Given the description of an element on the screen output the (x, y) to click on. 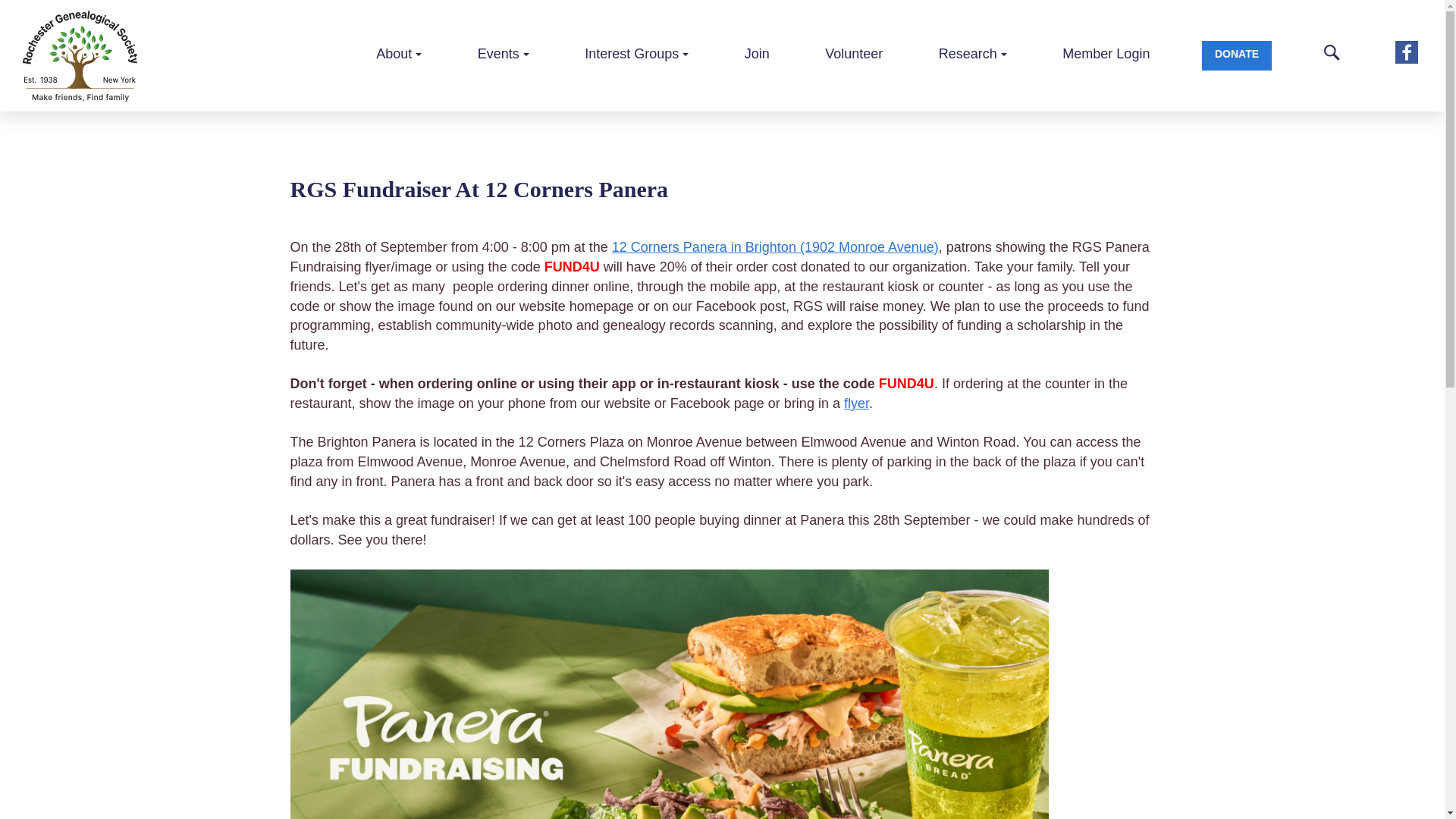
About (398, 55)
Events (503, 55)
